Given the description of an element on the screen output the (x, y) to click on. 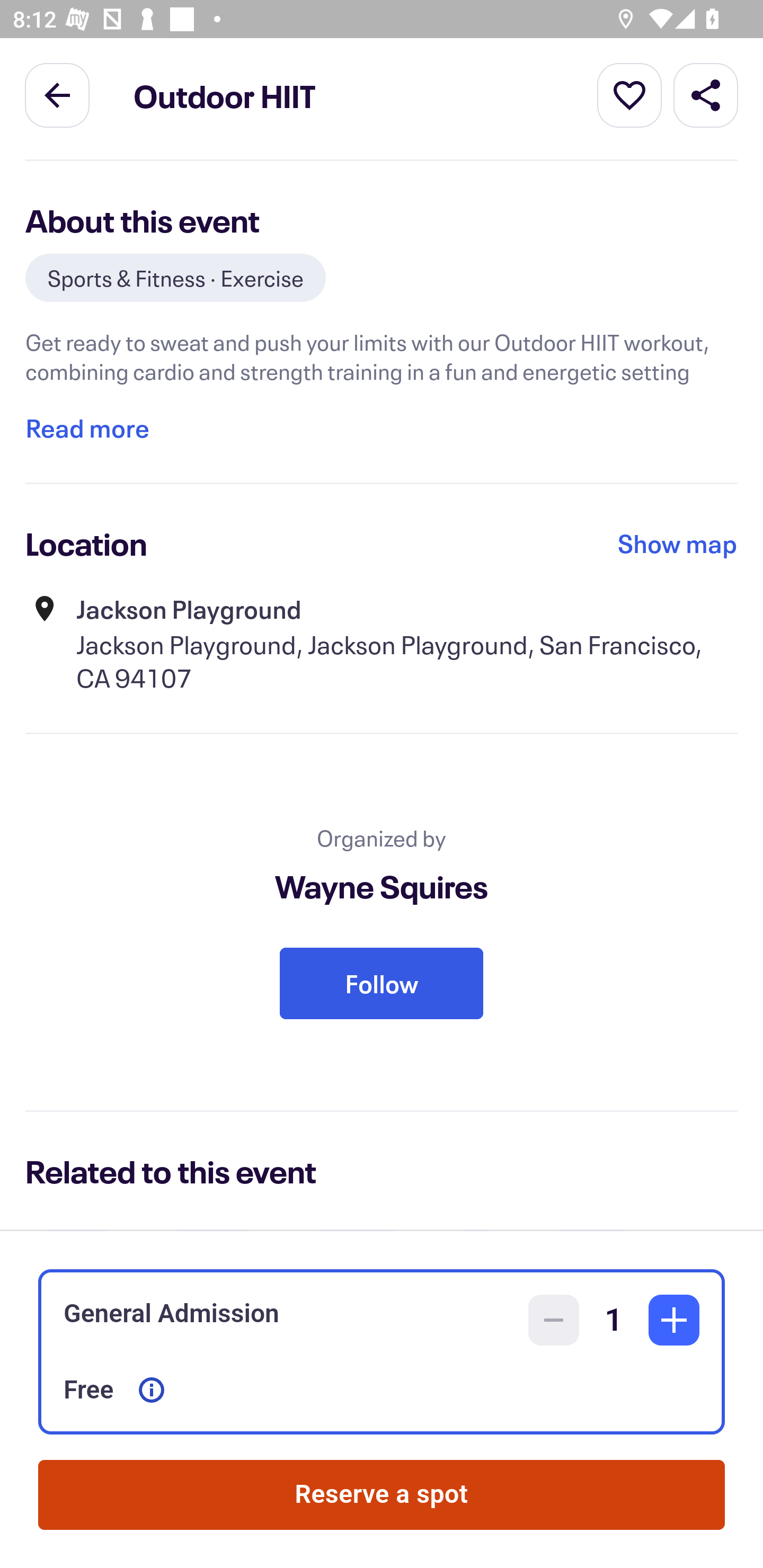
Back (57, 94)
More (629, 94)
Share (705, 94)
Read more (87, 427)
Show map (677, 542)
Wayne Squires (381, 886)
Follow (381, 983)
